Given the description of an element on the screen output the (x, y) to click on. 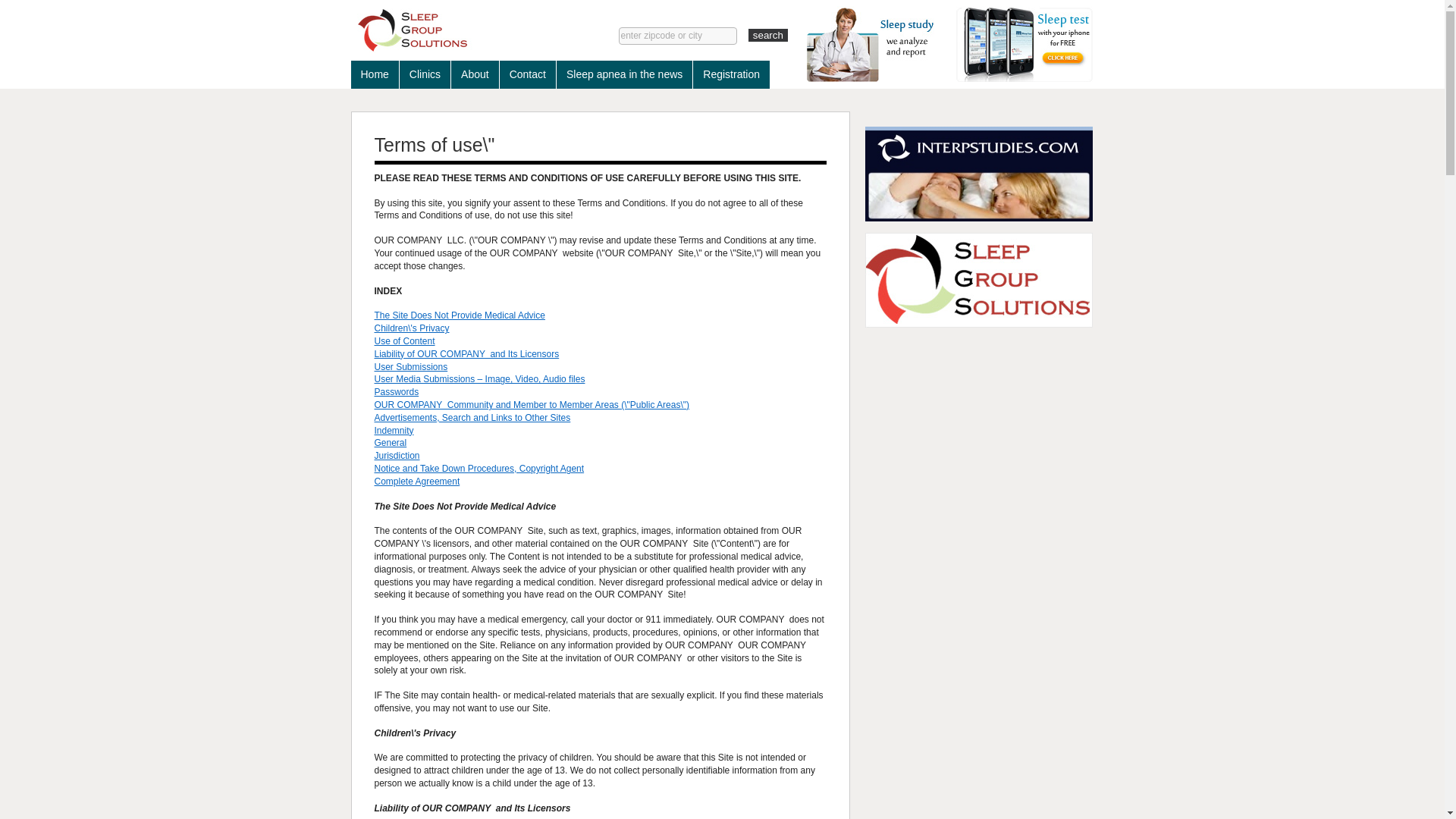
Sleep lab Element type: text (460, 30)
Contact Element type: text (527, 74)
Passwords Element type: text (396, 391)
Liability of OUR COMPANY  and Its Licensors Element type: text (466, 353)
The Site Does Not Provide Medical Advice Element type: text (459, 315)
Advertisements, Search and Links to Other Sites Element type: text (472, 417)
search Element type: text (767, 34)
Registration Element type: text (731, 74)
Clinics Element type: text (424, 74)
About Element type: text (474, 74)
General Element type: text (390, 442)
InterpStudies Element type: hover (978, 173)
Complete Agreement Element type: text (417, 481)
Use of Content Element type: text (404, 340)
Jurisdiction Element type: text (397, 455)
Notice and Take Down Procedures, Copyright Agent Element type: text (479, 468)
Children\'s Privacy Element type: text (411, 328)
User Submissions Element type: text (411, 366)
Sleep apnea in the news Element type: text (624, 74)
Home Element type: text (374, 74)
sleep group solutions Element type: hover (978, 279)
Indemnity Element type: text (394, 430)
